Given the description of an element on the screen output the (x, y) to click on. 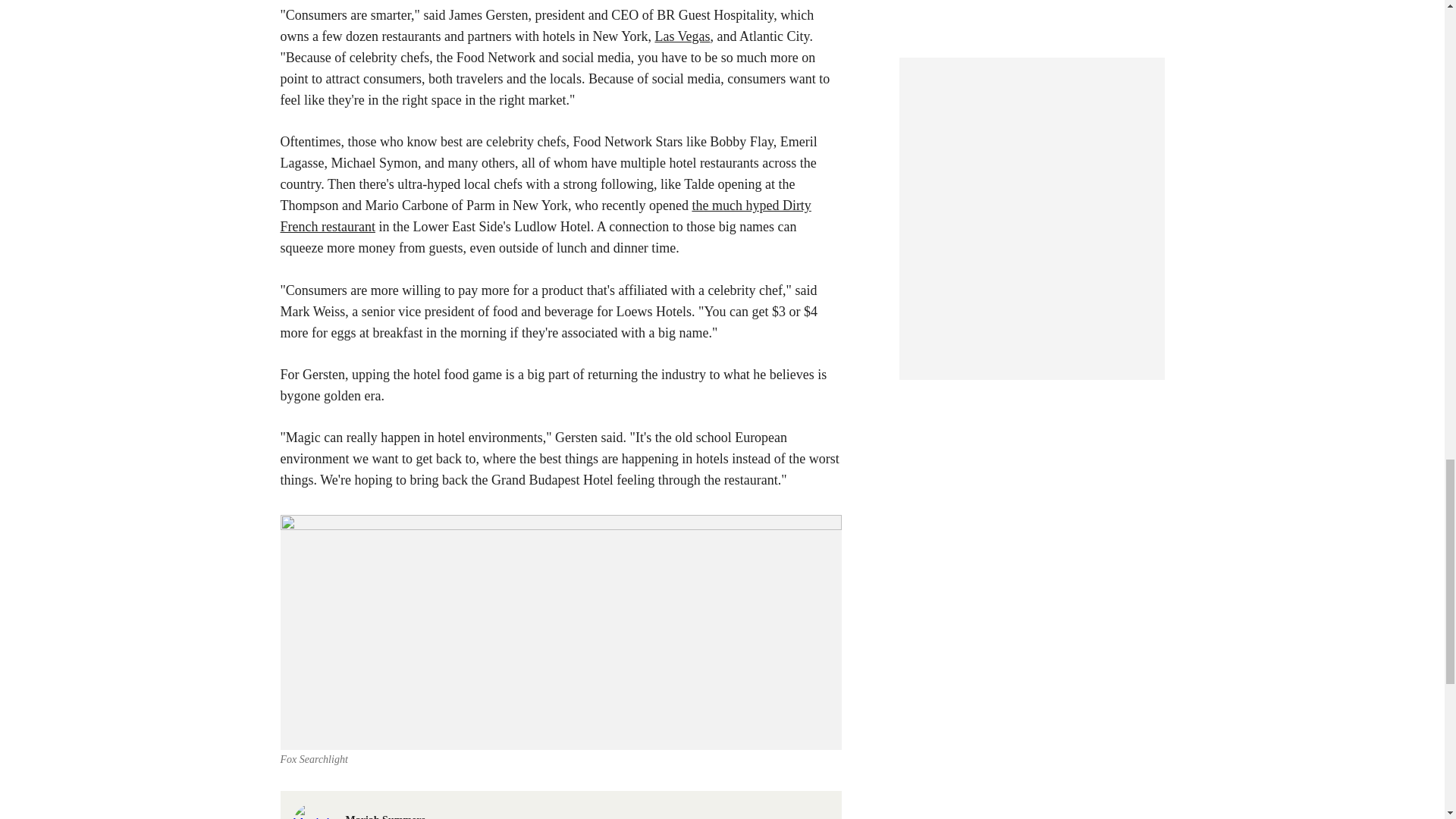
Las Vegas (681, 36)
the much hyped Dirty French restaurant (545, 216)
